Given the description of an element on the screen output the (x, y) to click on. 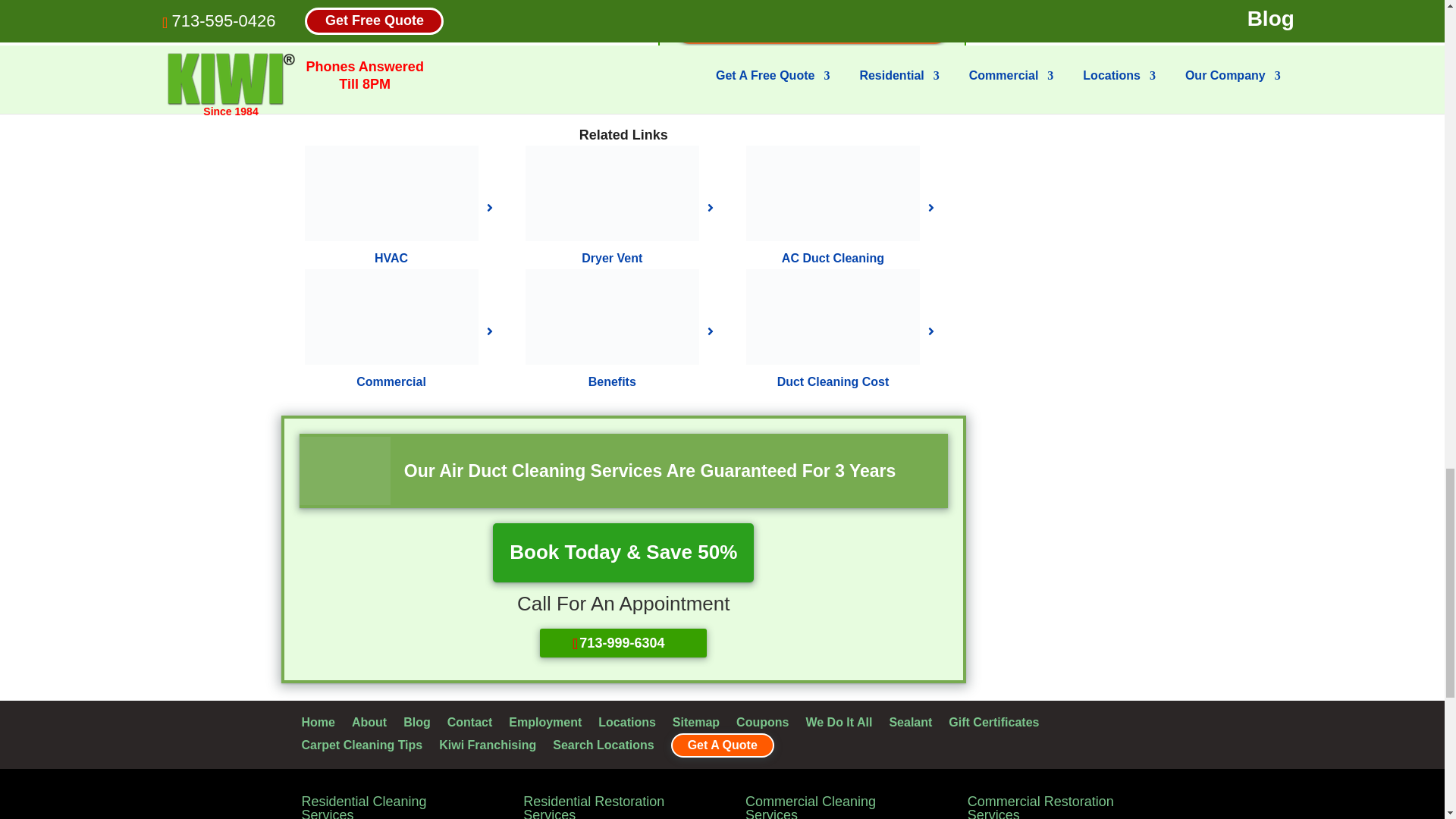
Warranty Panel (344, 470)
Duct Cleaning Cost (832, 316)
AC Duct Cleaning (832, 192)
Dryer Vent (611, 192)
Commercial (391, 316)
HVAC (391, 192)
Benefits (611, 316)
